Given the description of an element on the screen output the (x, y) to click on. 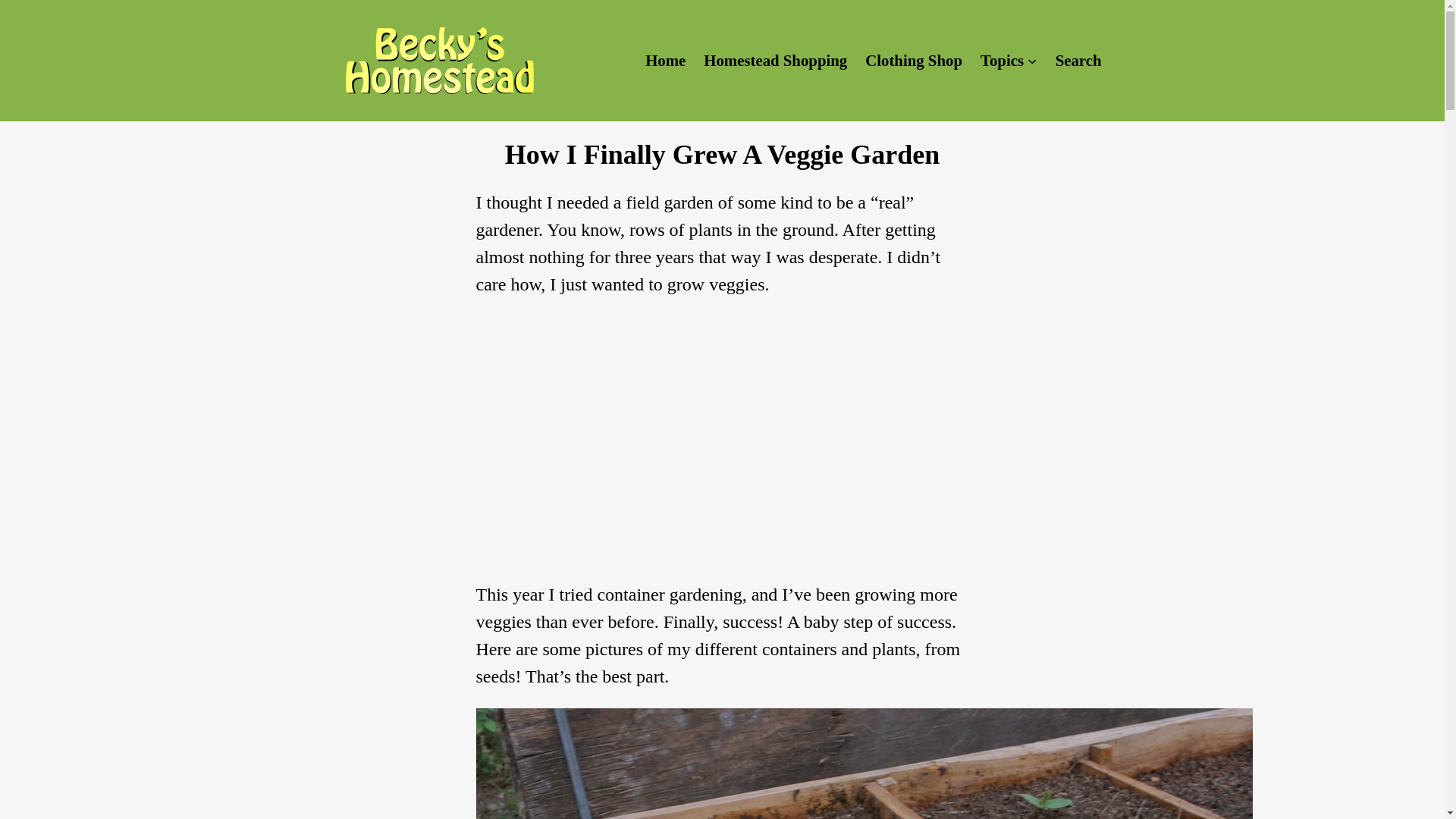
Home (665, 60)
Essential Products For Your Homestead (775, 60)
Search (1078, 60)
Topics (1001, 60)
Buy Clothing Designed By Becky (913, 60)
Clothing Shop (913, 60)
Homestead Shopping (775, 60)
